Given the description of an element on the screen output the (x, y) to click on. 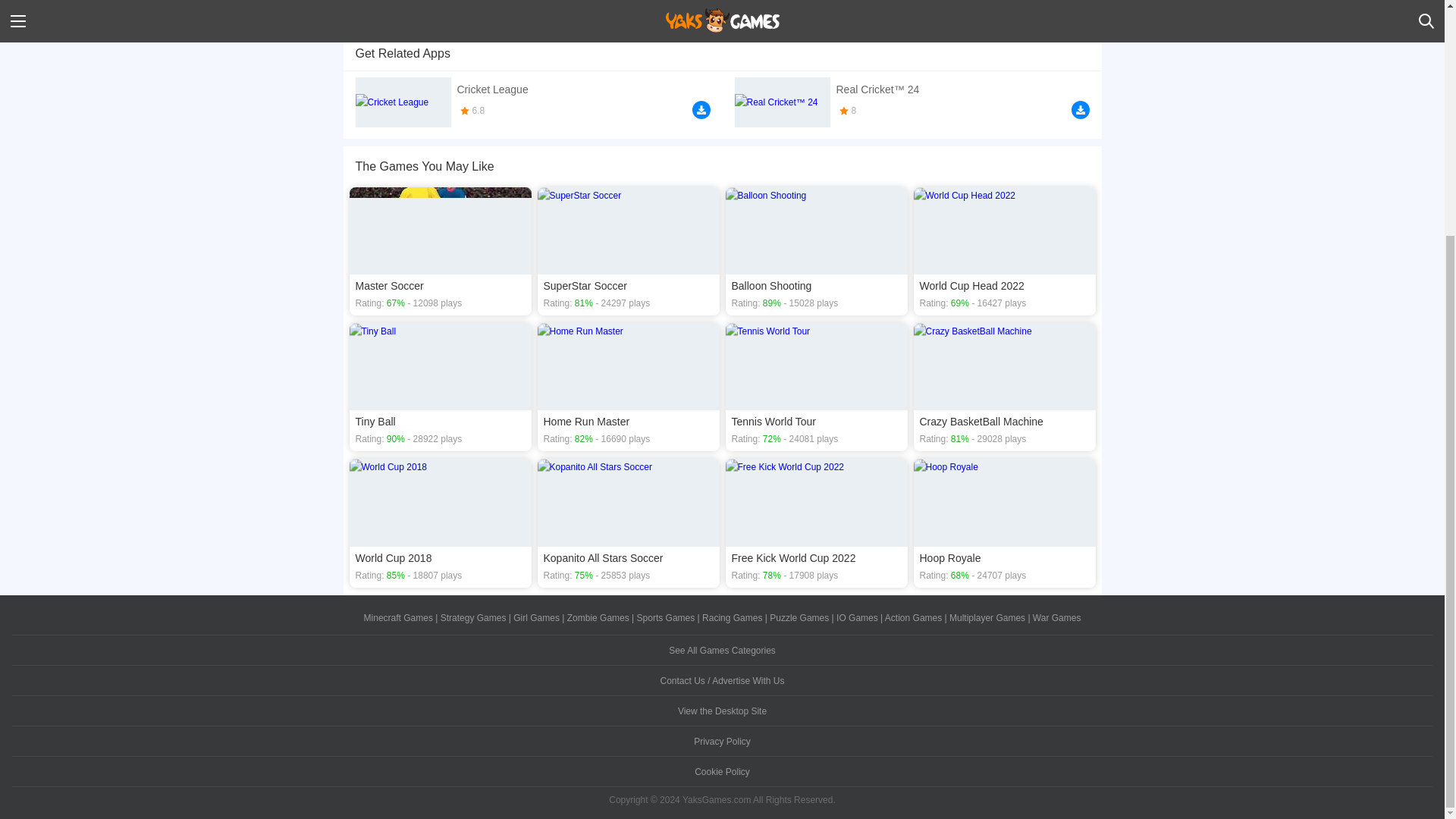
Tennis World Tour (816, 386)
Hoop Royale (1003, 522)
Free Kick World Cup 2022 (816, 522)
SuperStar Soccer (628, 251)
Balloon Shooting (816, 251)
World Cup Head 2022 (1003, 251)
Tiny Ball (440, 386)
Master Soccer (440, 251)
Contact Us (721, 680)
Crazy BasketBall Machine (1003, 386)
